Given the description of an element on the screen output the (x, y) to click on. 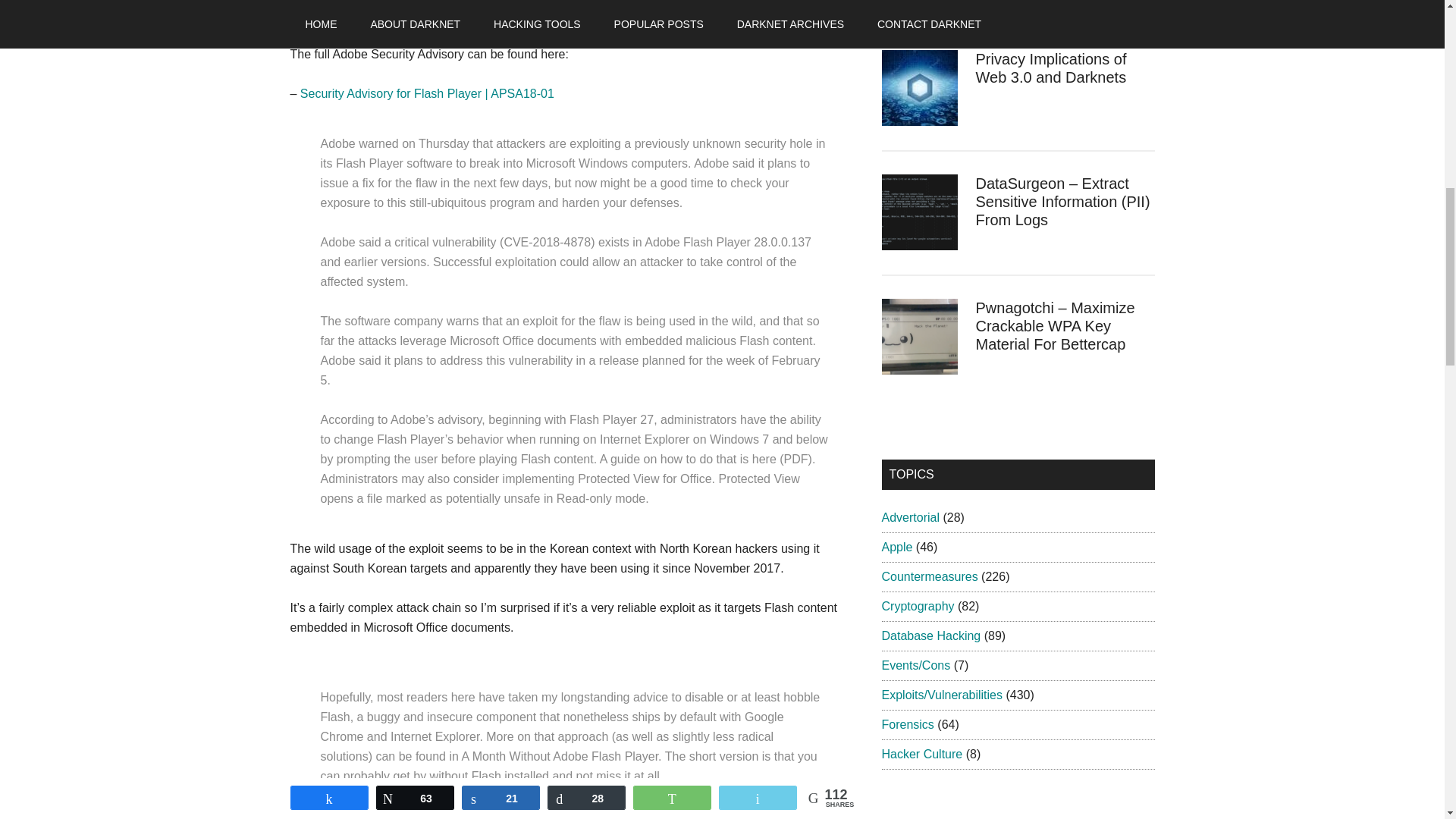
Advertisement (574, 22)
Privacy Implications of Web 3.0 and Darknets (1050, 67)
